Given the description of an element on the screen output the (x, y) to click on. 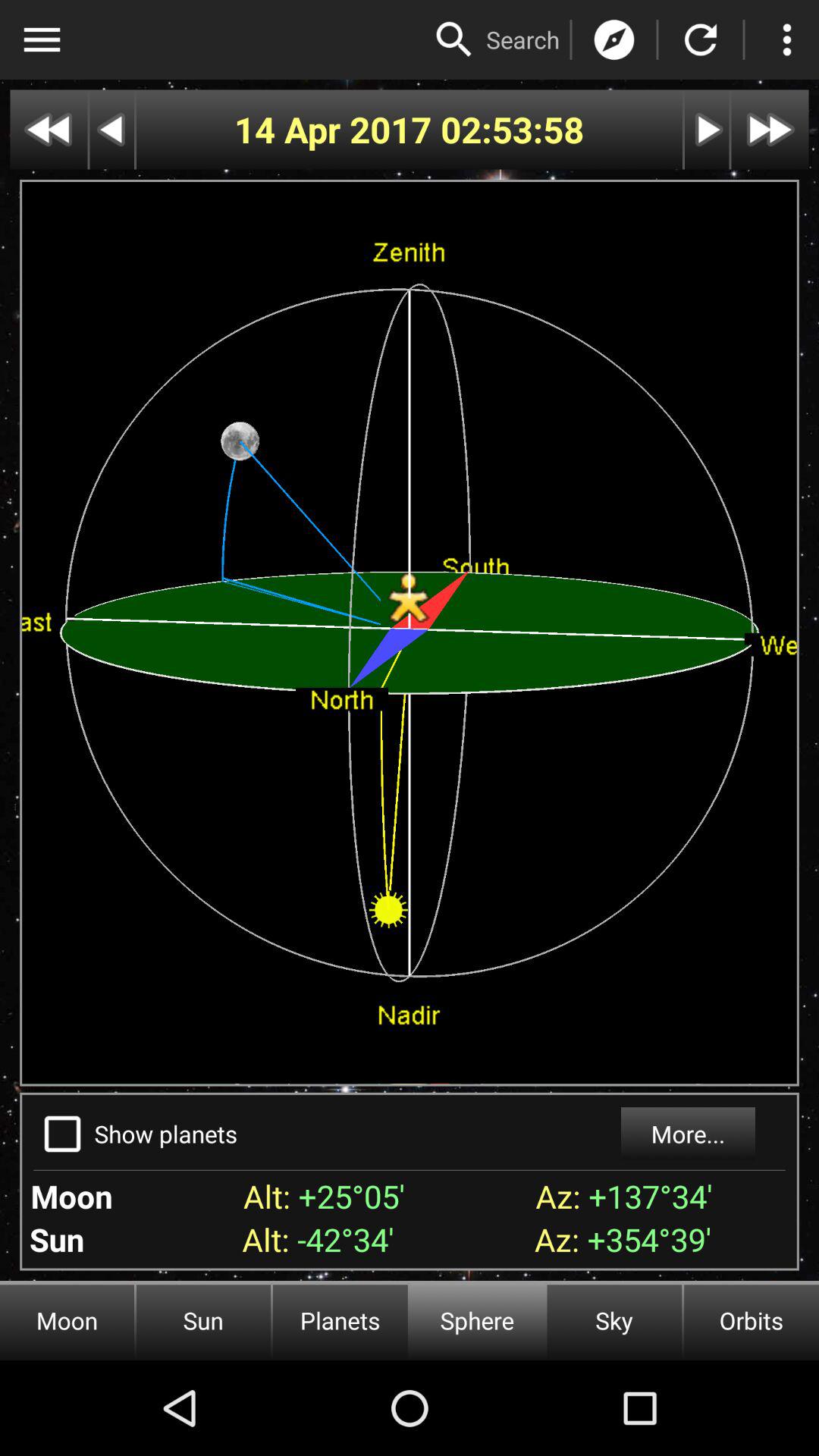
toggle options menu (41, 39)
